Given the description of an element on the screen output the (x, y) to click on. 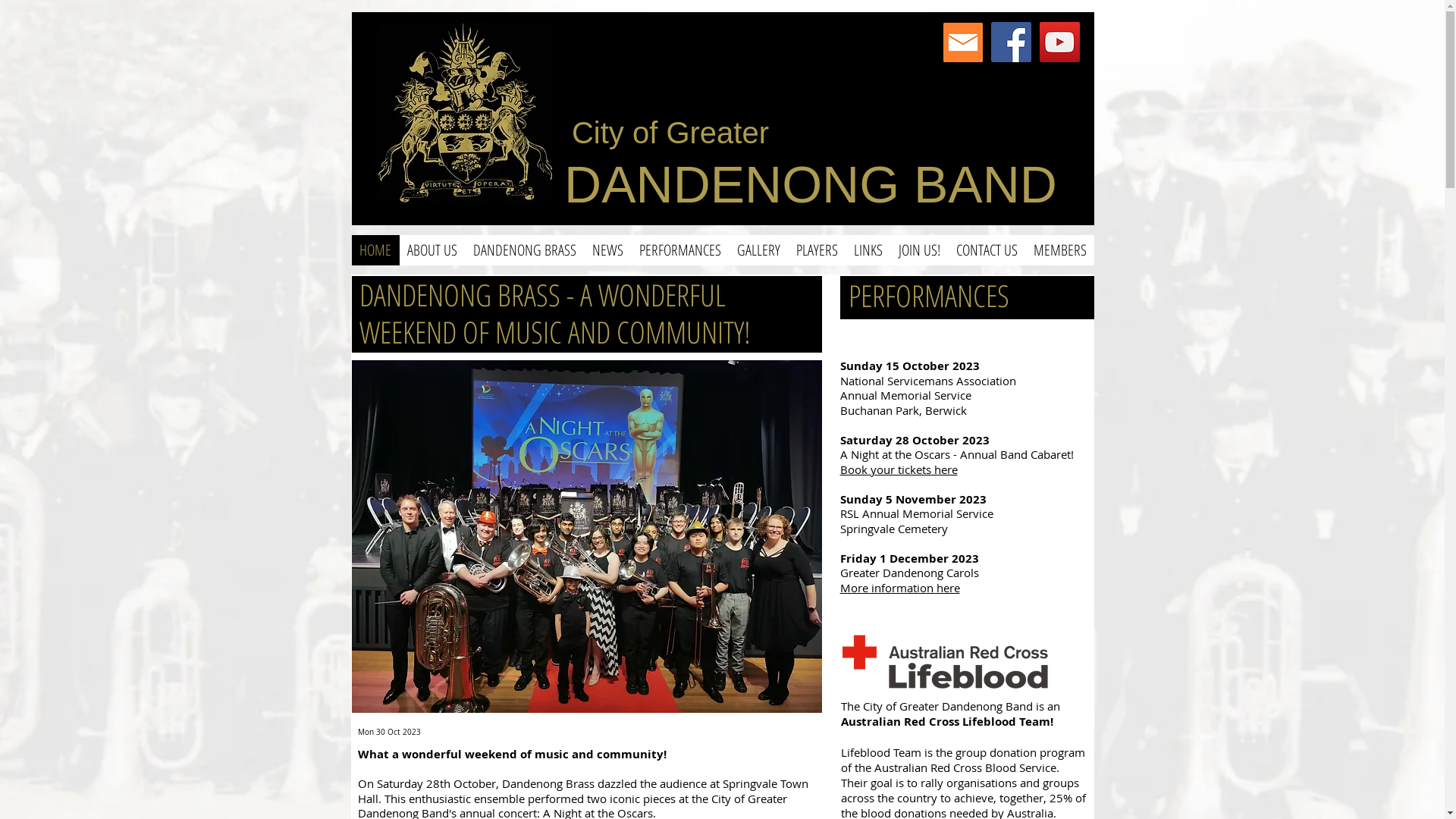
HOME Element type: text (375, 250)
LINKS Element type: text (868, 250)
MEMBERS Element type: text (1059, 250)
CONTACT US Element type: text (986, 250)
Book your tickets here Element type: text (898, 468)
More information here Element type: text (900, 586)
JOIN US! Element type: text (918, 250)
